Given the description of an element on the screen output the (x, y) to click on. 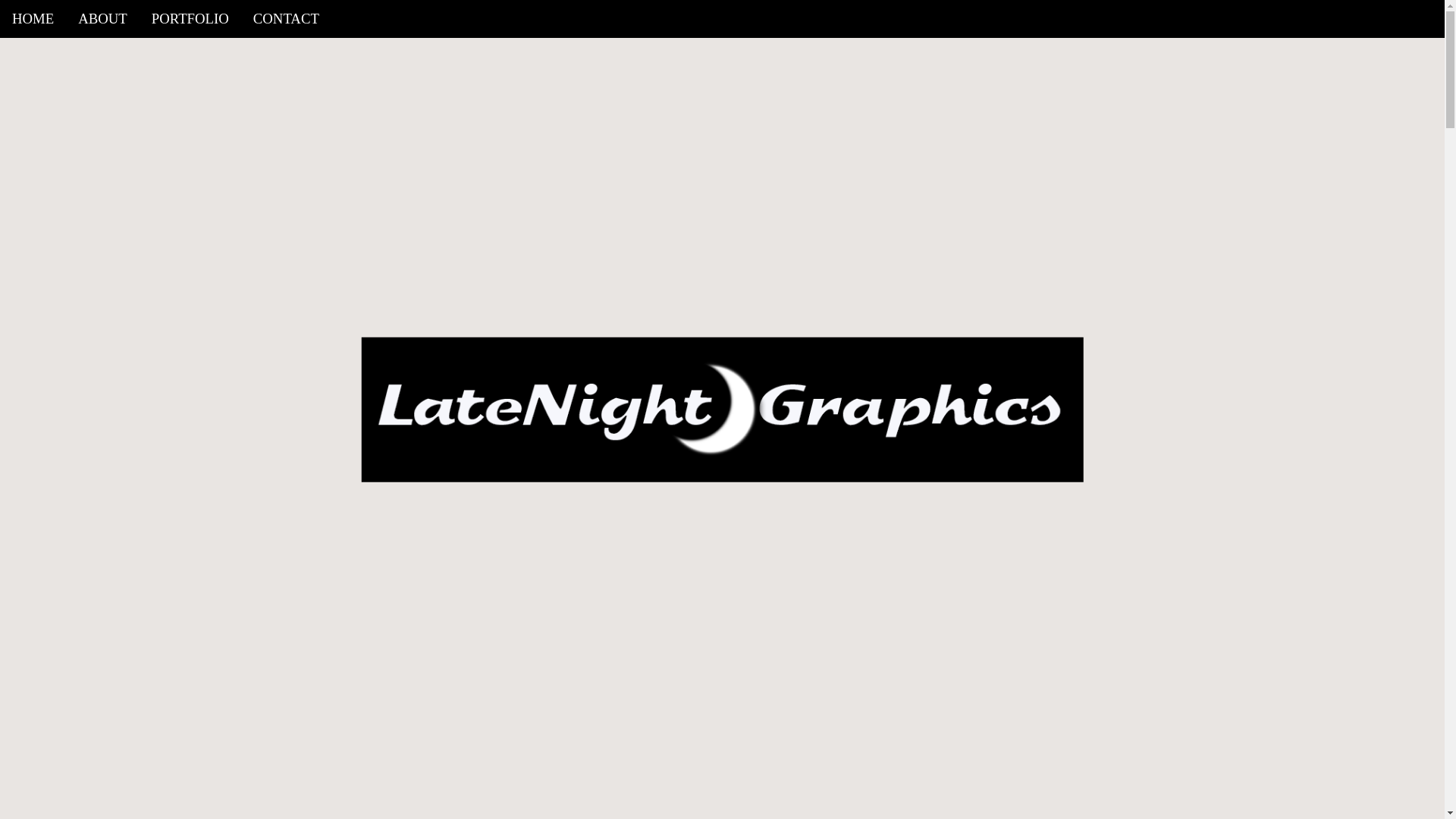
HOME (32, 18)
ABOUT (102, 18)
CONTACT (286, 18)
PORTFOLIO (190, 18)
